Given the description of an element on the screen output the (x, y) to click on. 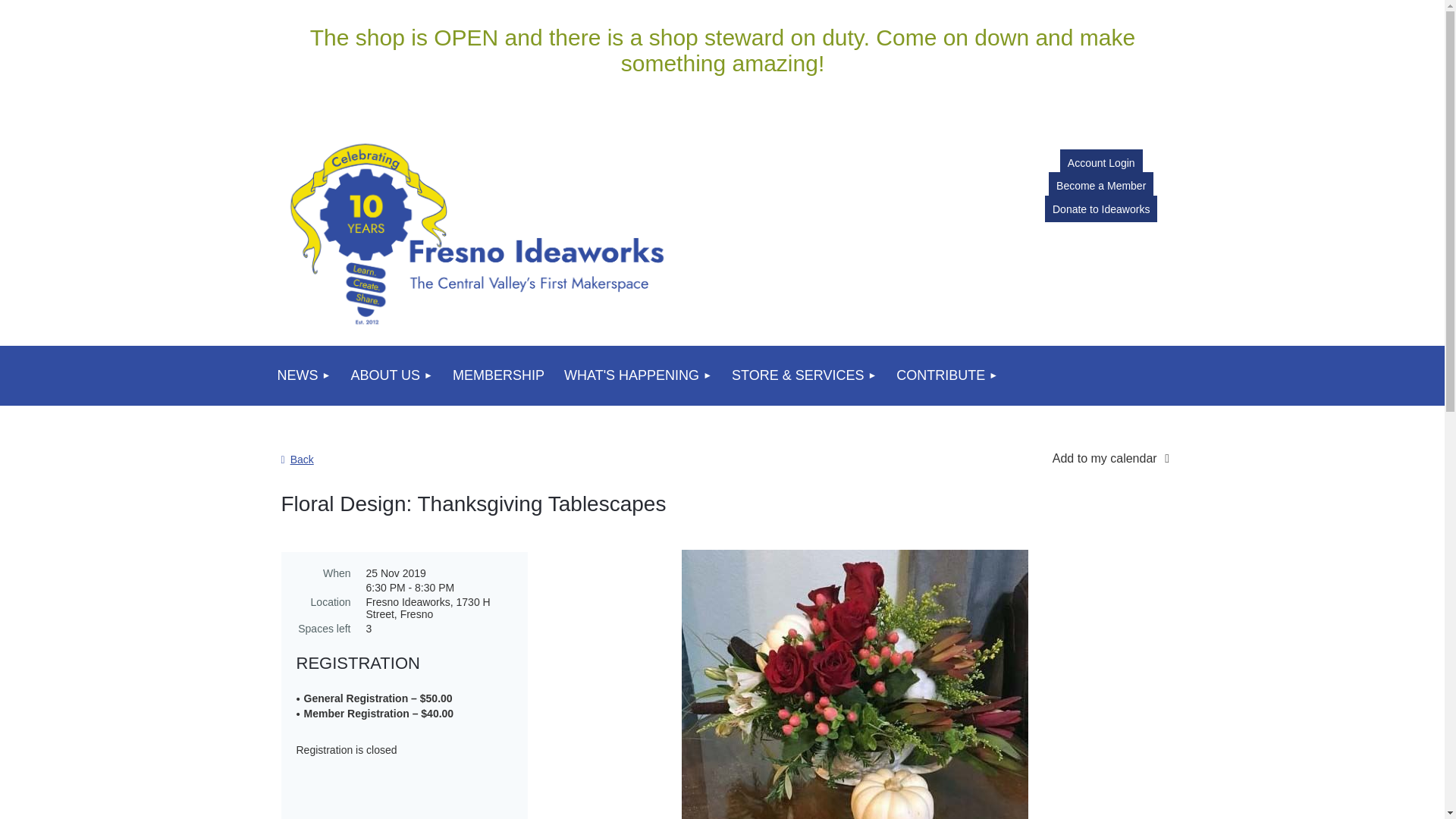
ABOUT US (391, 375)
NEWS (303, 375)
Become a Member (1100, 185)
Account Login (1100, 162)
Donate to Ideaworks (1101, 208)
